Given the description of an element on the screen output the (x, y) to click on. 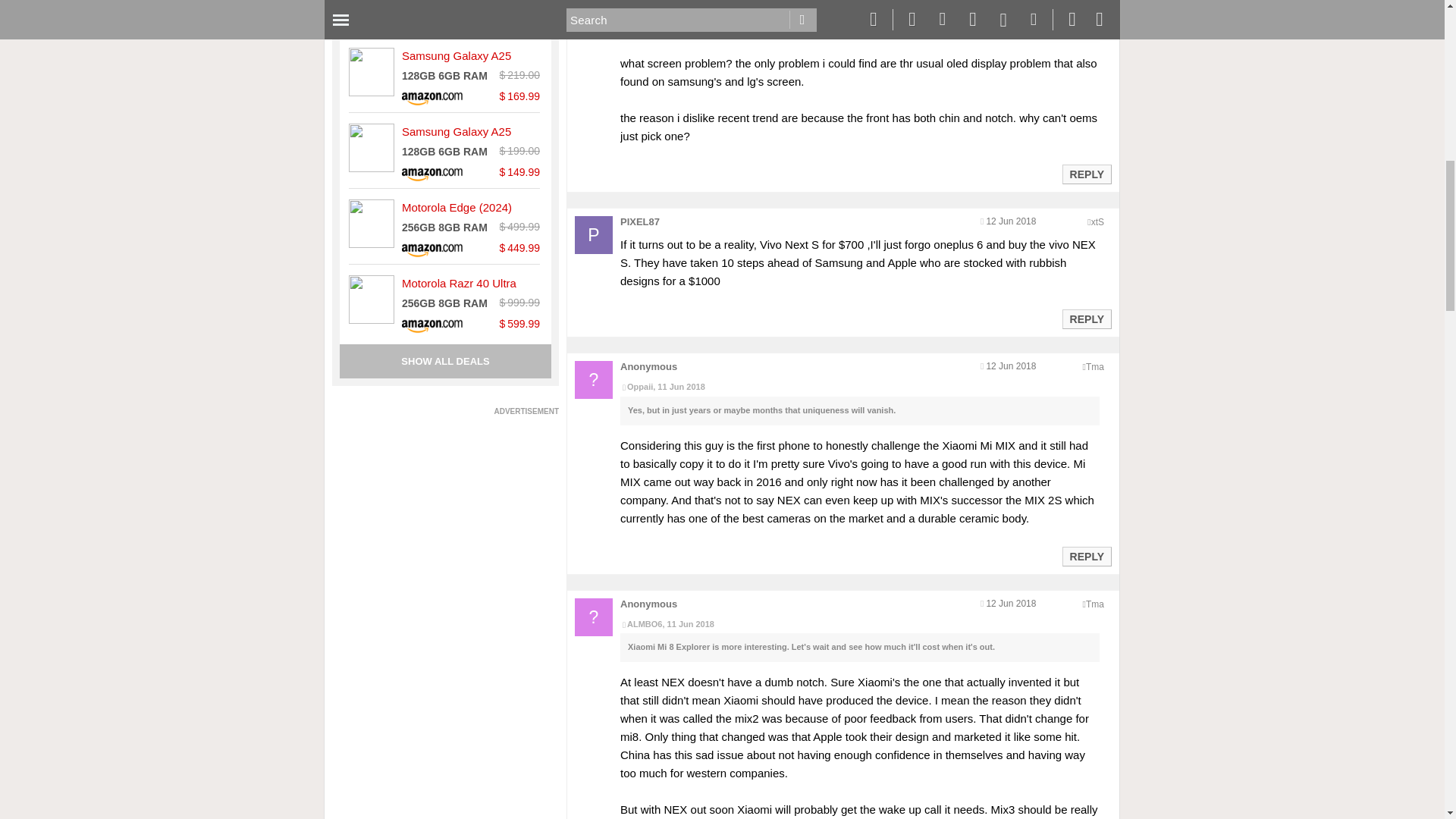
more (1024, 28)
Reply to this post (1086, 174)
Encoded anonymized location (1094, 366)
Encoded anonymized location (1096, 222)
Reply to this post (1086, 556)
Reply to this post (1086, 318)
Anonymous, 12 Jun 2018 (859, 6)
Encoded anonymized location (1094, 603)
